Given the description of an element on the screen output the (x, y) to click on. 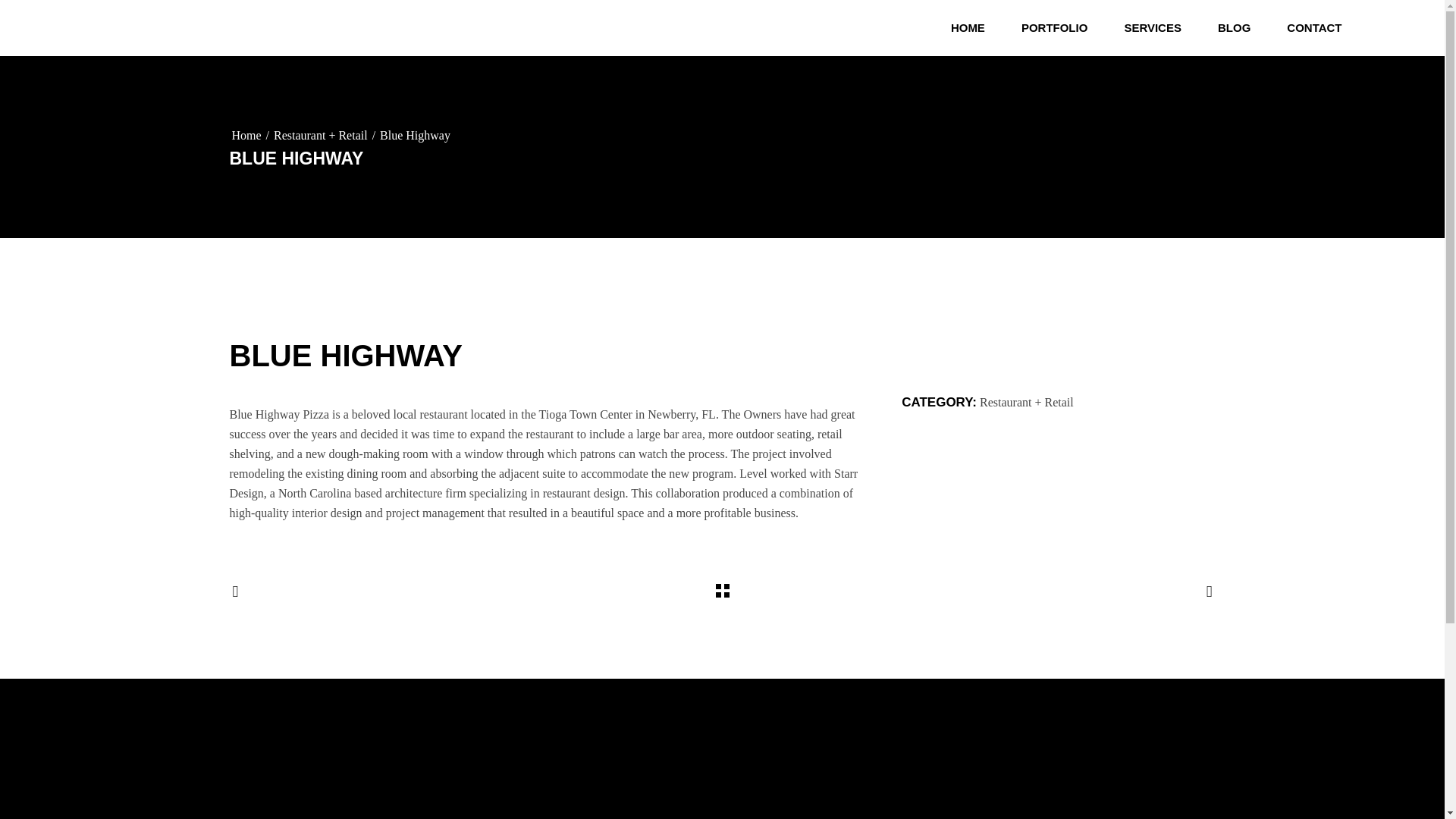
BLOG (1233, 28)
HOME (968, 28)
SERVICES (1152, 28)
PORTFOLIO (1054, 28)
Home (245, 135)
CONTACT (1313, 28)
